Given the description of an element on the screen output the (x, y) to click on. 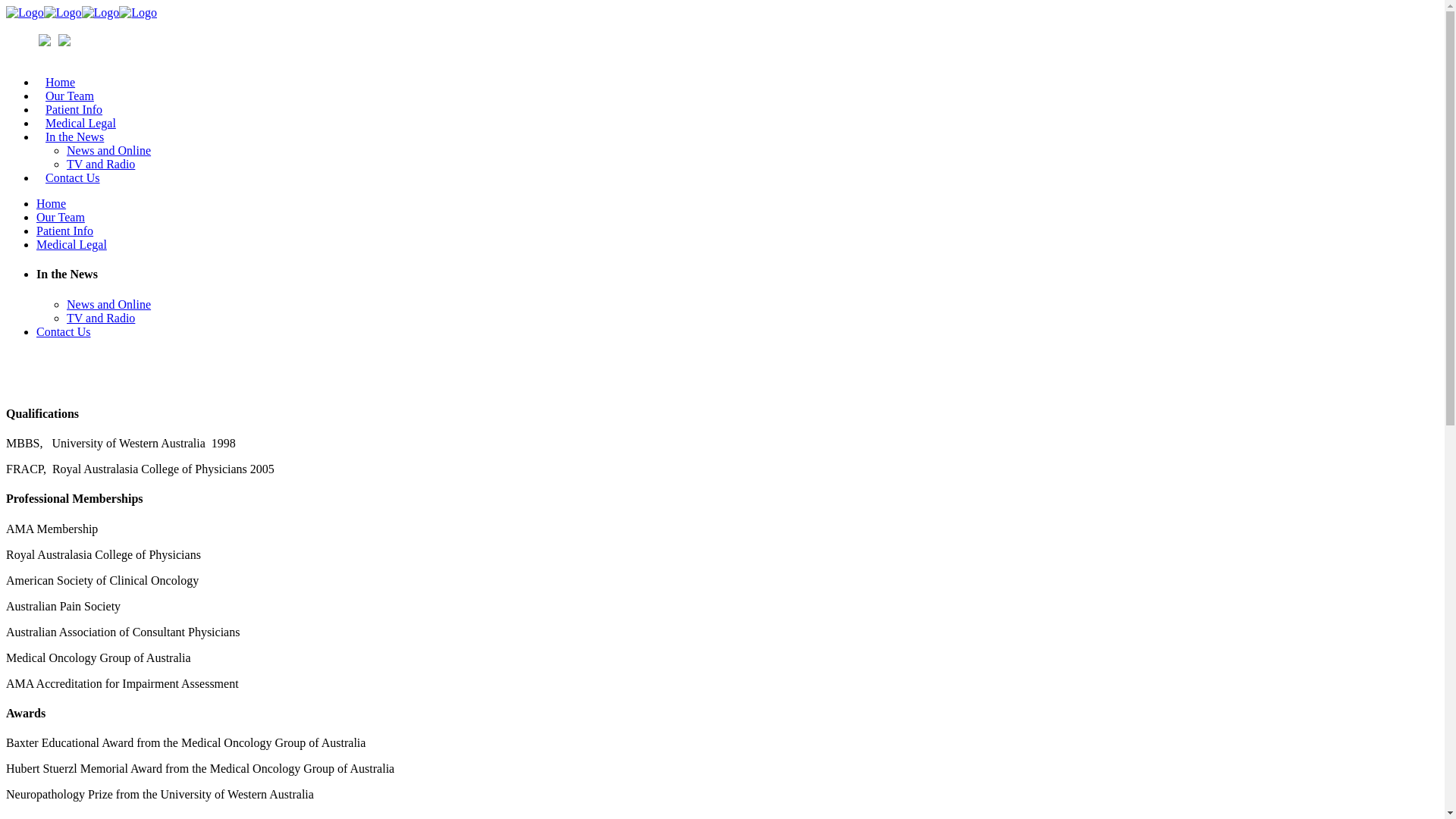
News and Online Element type: text (108, 304)
News and Online Element type: text (108, 150)
Our Team Element type: text (60, 216)
TV and Radio Element type: text (100, 163)
Contact Us Element type: text (63, 331)
Home Element type: text (60, 81)
TV and Radio Element type: text (100, 317)
Patient Info Element type: text (73, 109)
Medical Legal Element type: text (71, 244)
In the News Element type: text (74, 136)
Home Element type: text (50, 203)
Contact Us Element type: text (72, 177)
Patient Info Element type: text (64, 230)
Medical Legal Element type: text (80, 122)
Our Team Element type: text (69, 95)
